Given the description of an element on the screen output the (x, y) to click on. 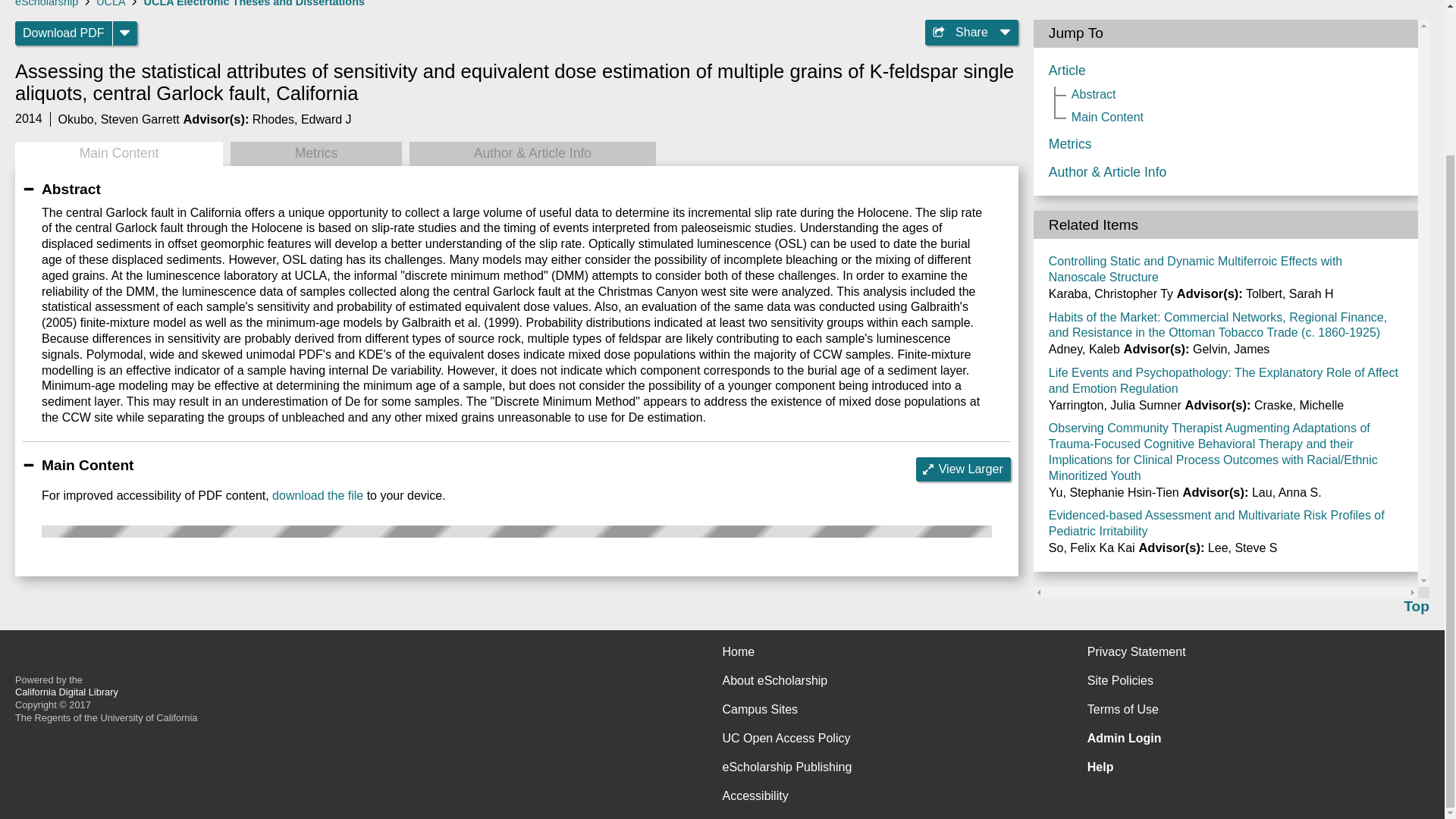
Rhodes, Edward J (301, 119)
Main Content (118, 153)
download the file (317, 495)
Okubo, Steven Garrett (118, 119)
eScholarship (46, 3)
UCLA Electronic Theses and Dissertations (254, 3)
Download PDF (63, 33)
Metrics (315, 153)
View Larger (962, 469)
UCLA (110, 3)
